Given the description of an element on the screen output the (x, y) to click on. 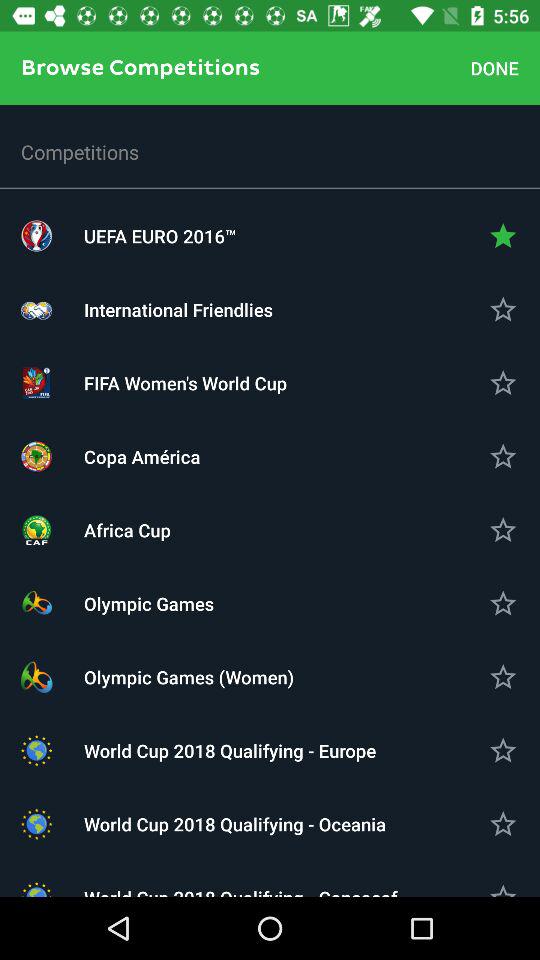
click the icon below the fifa women s item (270, 456)
